Given the description of an element on the screen output the (x, y) to click on. 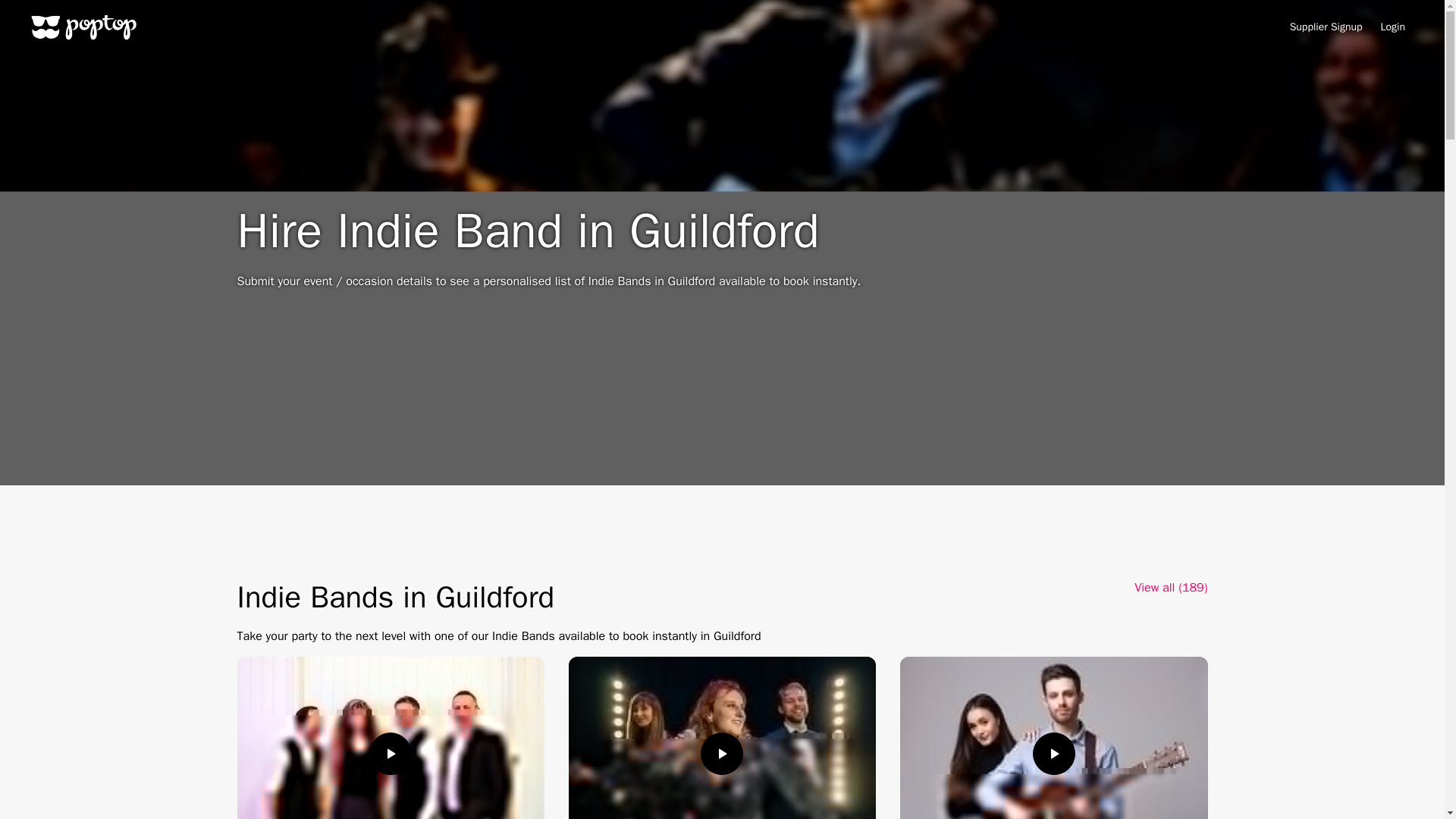
Supplier Signup (1326, 26)
Login (1392, 26)
